Given the description of an element on the screen output the (x, y) to click on. 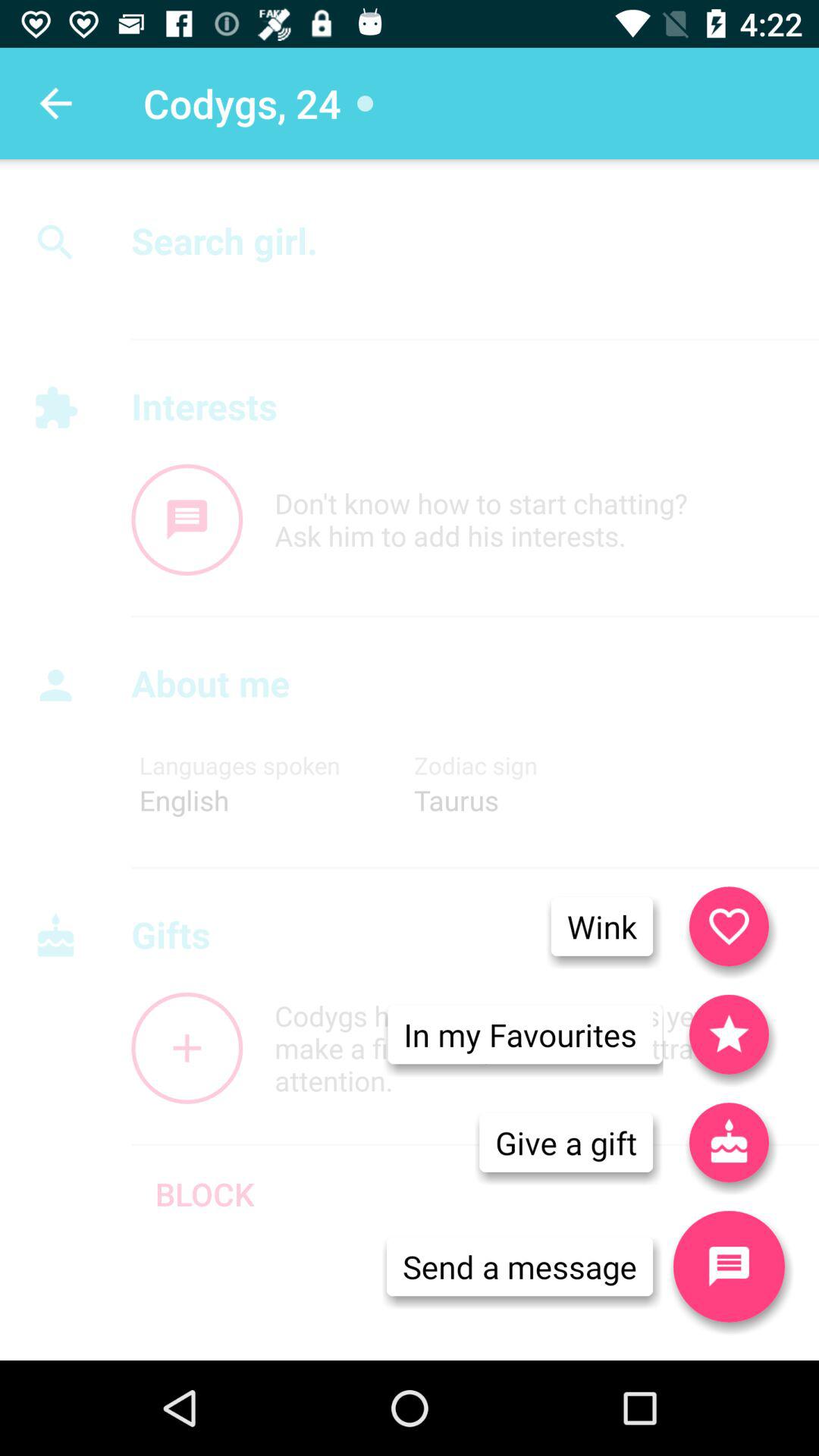
press icon to the right of the in my favourites (729, 1142)
